Given the description of an element on the screen output the (x, y) to click on. 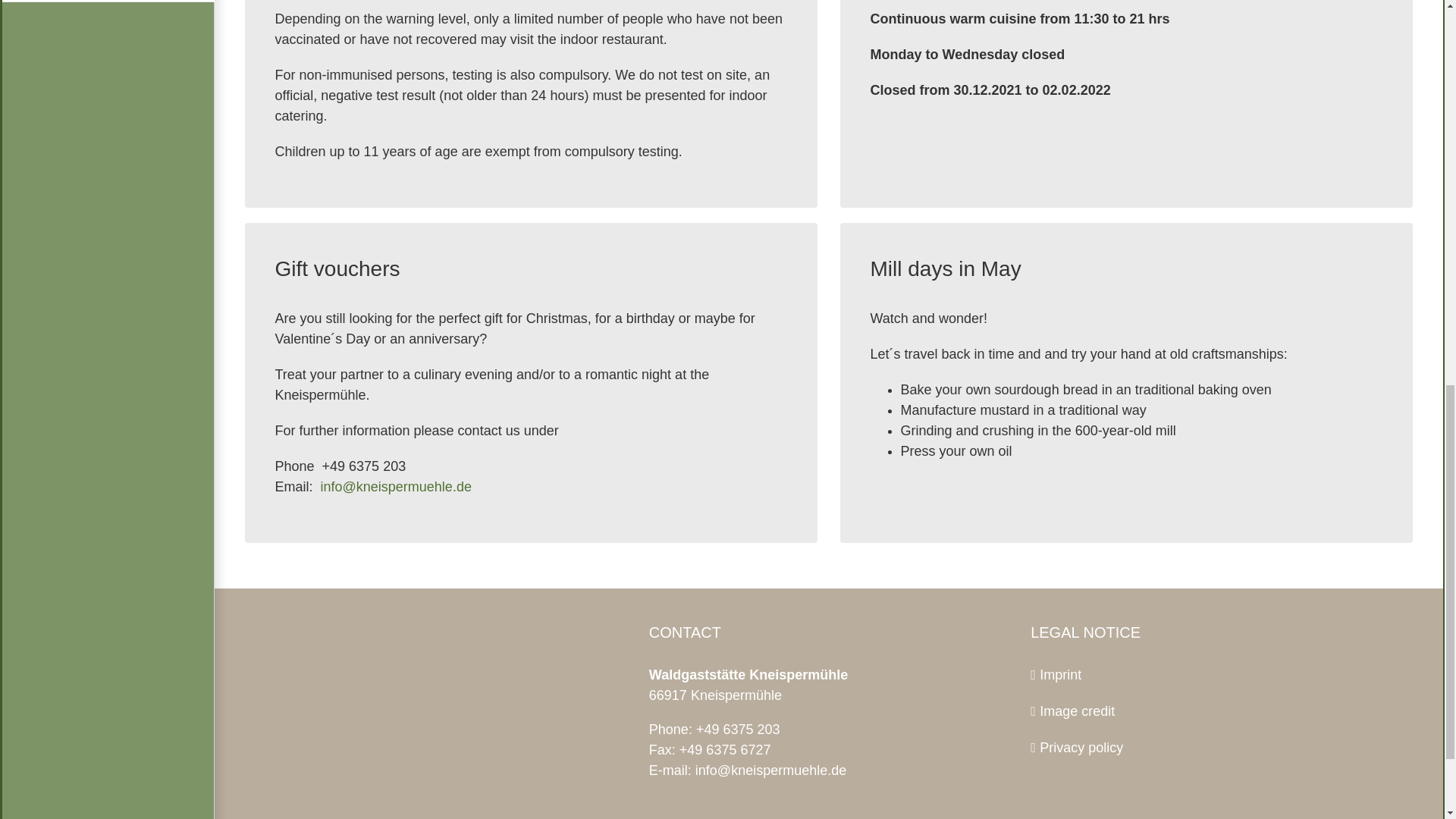
English (106, 1)
English (106, 1)
